Given the description of an element on the screen output the (x, y) to click on. 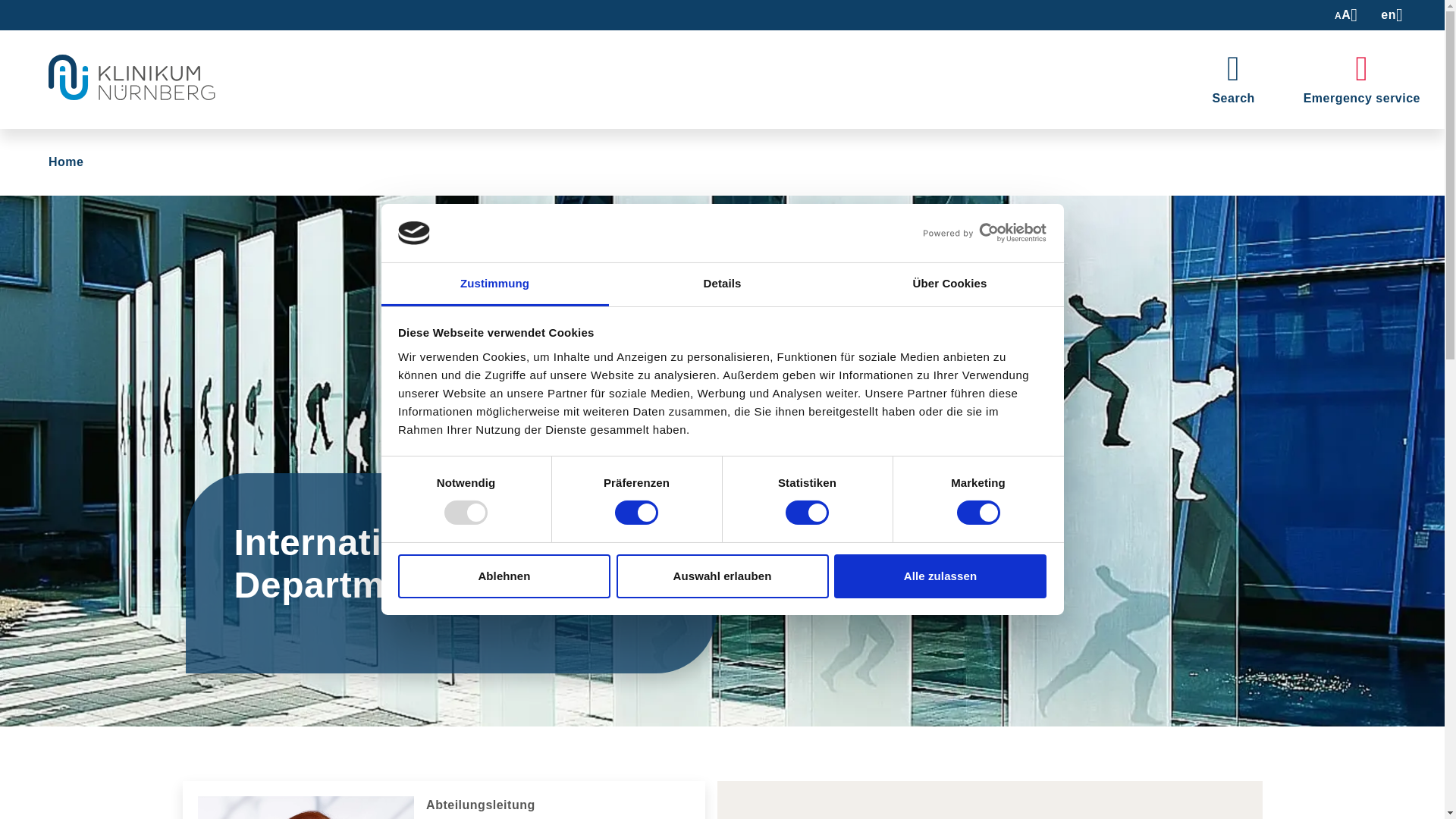
Alle zulassen (940, 576)
Search (1232, 79)
Ablehnen (503, 576)
Details (721, 284)
Auswahl erlauben (721, 576)
Emergency service (1362, 79)
Zustimmung (494, 284)
